Given the description of an element on the screen output the (x, y) to click on. 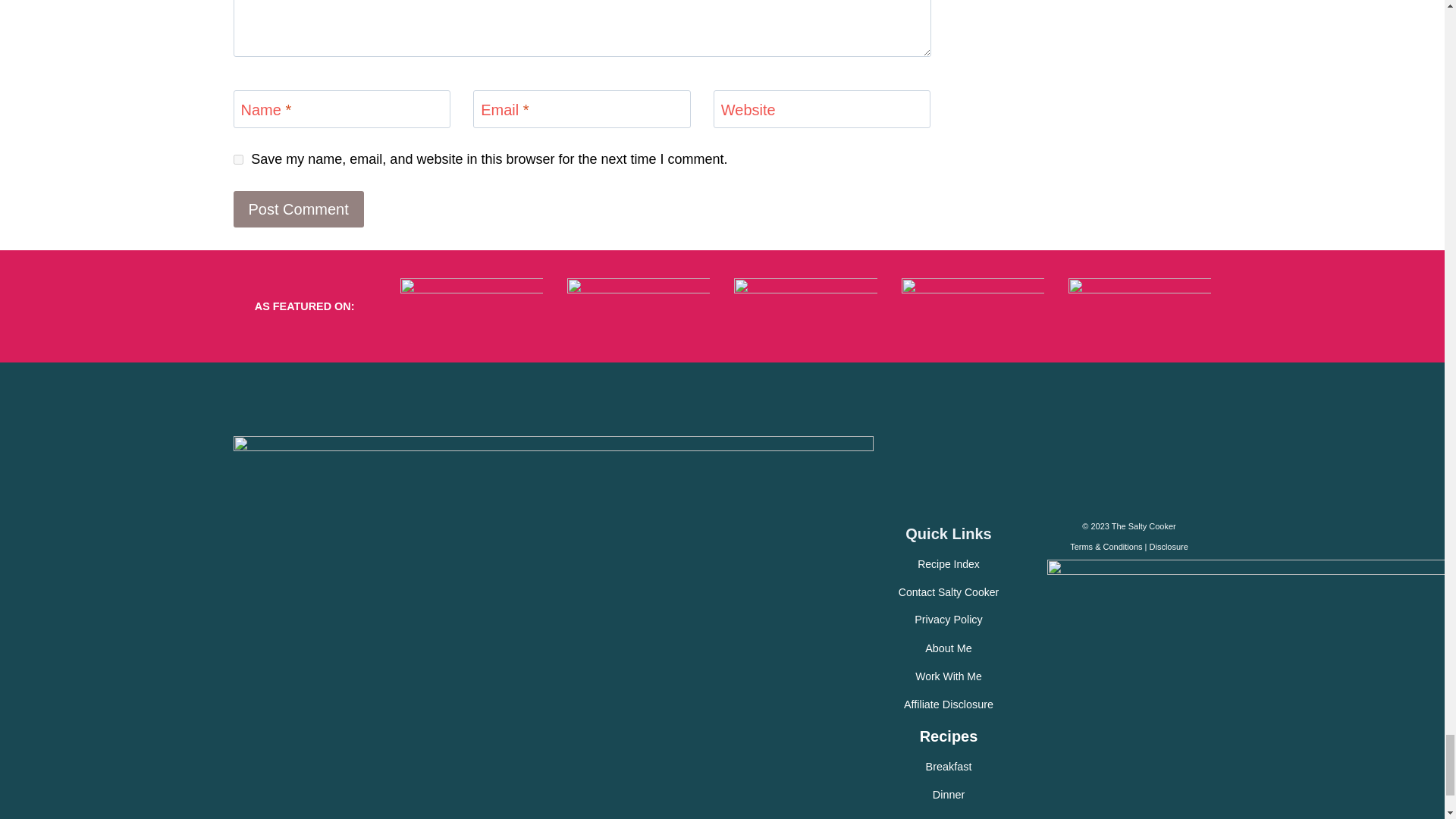
Post Comment (298, 208)
Post Comment (298, 208)
yes (237, 159)
